Given the description of an element on the screen output the (x, y) to click on. 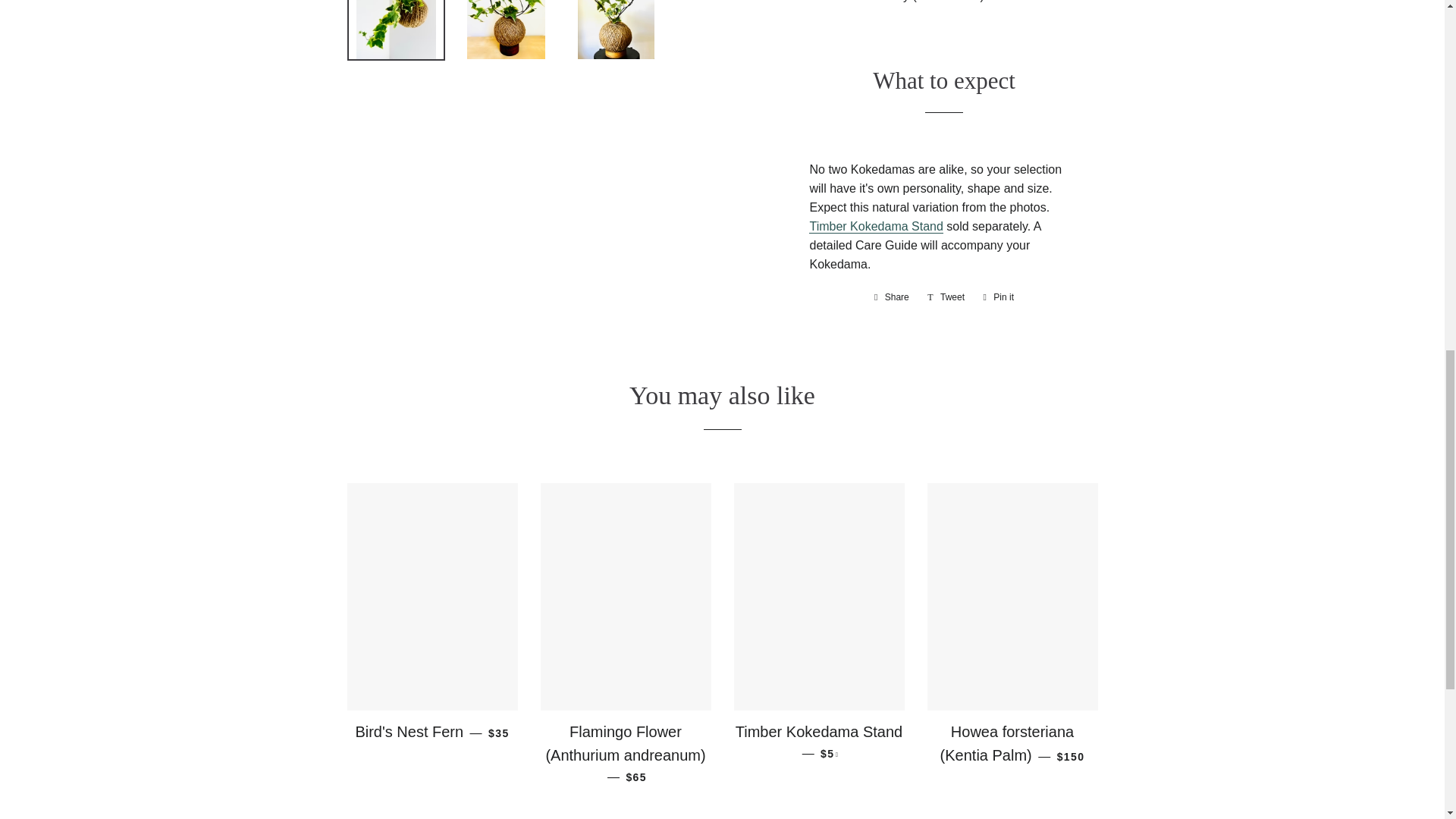
Share on Facebook (891, 297)
Tweet on Twitter (946, 297)
Timber Kokedama Stand (875, 226)
Pin on Pinterest (998, 297)
